Given the description of an element on the screen output the (x, y) to click on. 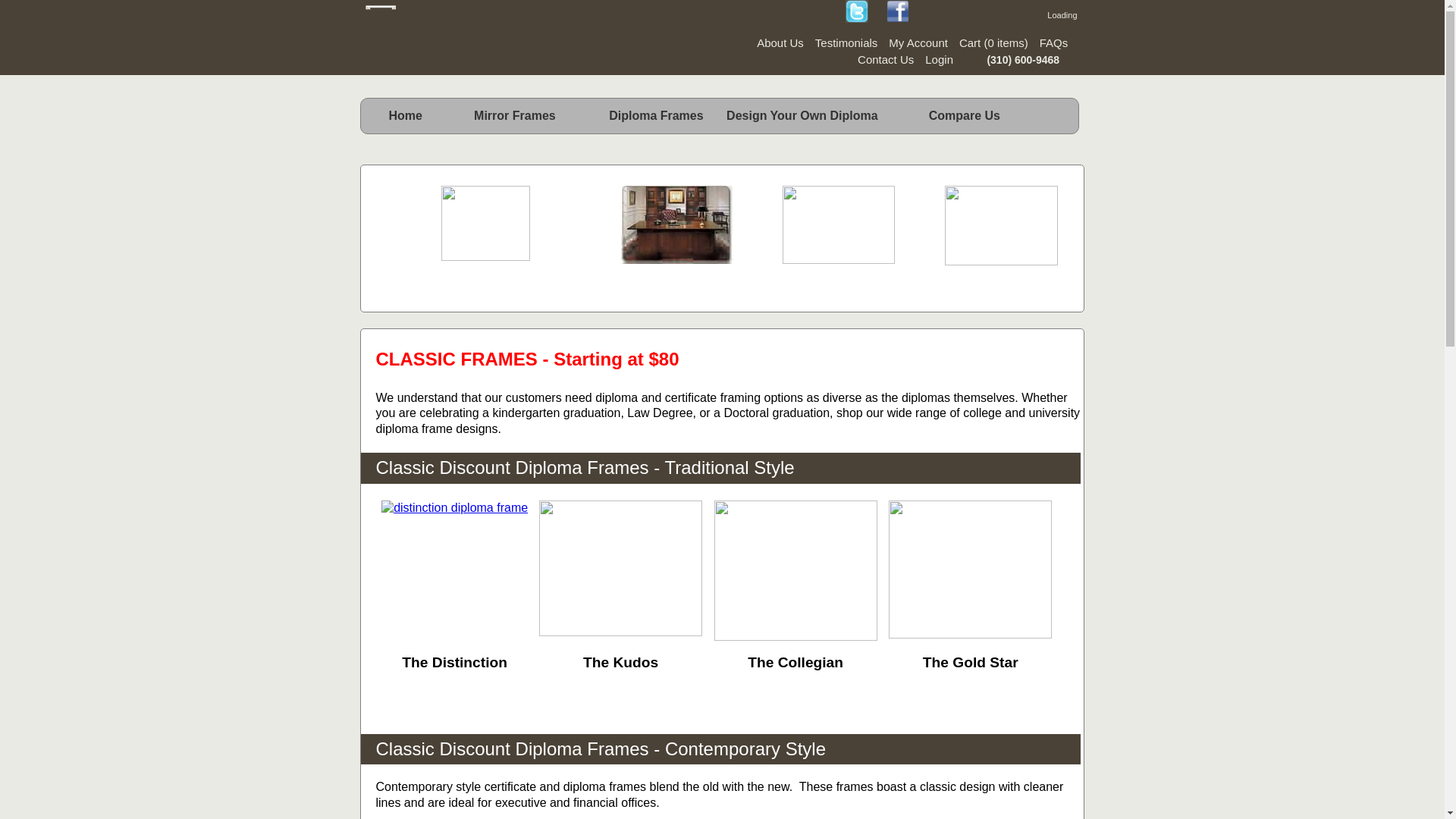
View More Details (620, 694)
View More Details (454, 694)
Deluxe (1000, 280)
Login (933, 59)
          Diploma Frames (639, 118)
Premium (838, 280)
About Us (774, 42)
Testimonials (840, 42)
Compare Us (964, 118)
Home (404, 118)
